Given the description of an element on the screen output the (x, y) to click on. 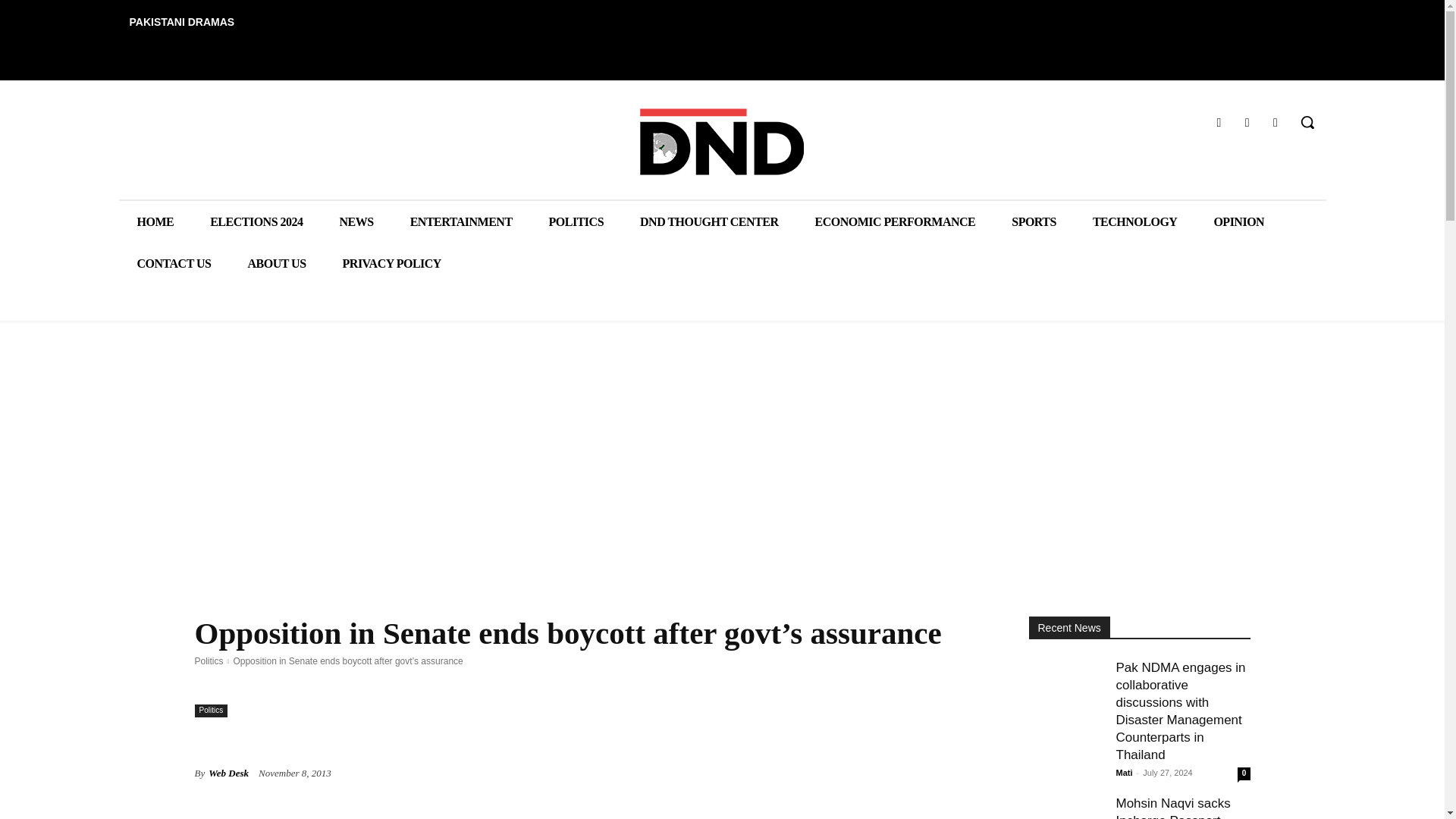
CONTACT US (172, 263)
TECHNOLOGY (1134, 221)
NEWS (356, 221)
Twitter (1275, 122)
ELECTIONS 2024 (256, 221)
View all posts in Politics (207, 661)
OPINION (1238, 221)
Facebook (1218, 122)
Instagram (1246, 122)
ECONOMIC PERFORMANCE (894, 221)
HOME (154, 221)
ABOUT US (275, 263)
DND THOUGHT CENTER (708, 221)
SPORTS (1033, 221)
PAKISTANI DRAMAS (180, 22)
